Given the description of an element on the screen output the (x, y) to click on. 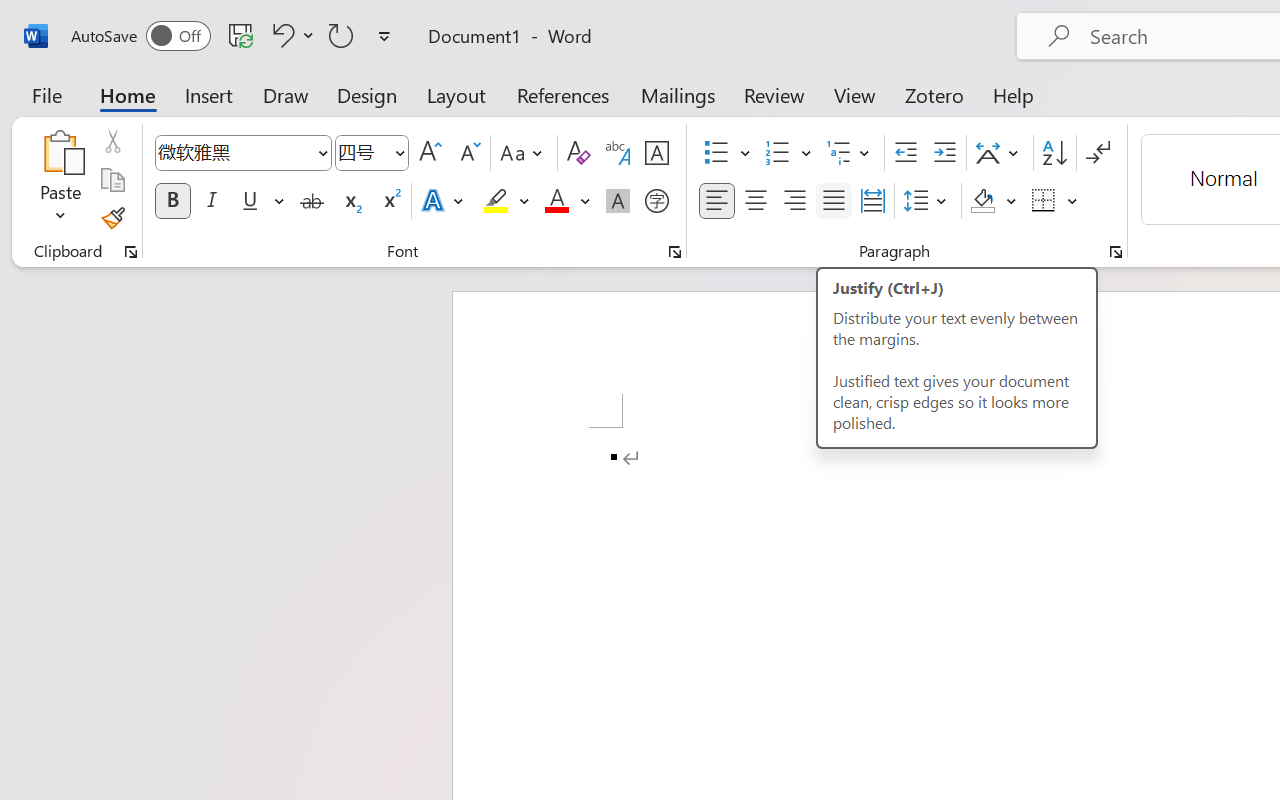
Repeat Doc Close (341, 35)
Font Color Red (556, 201)
